Given the description of an element on the screen output the (x, y) to click on. 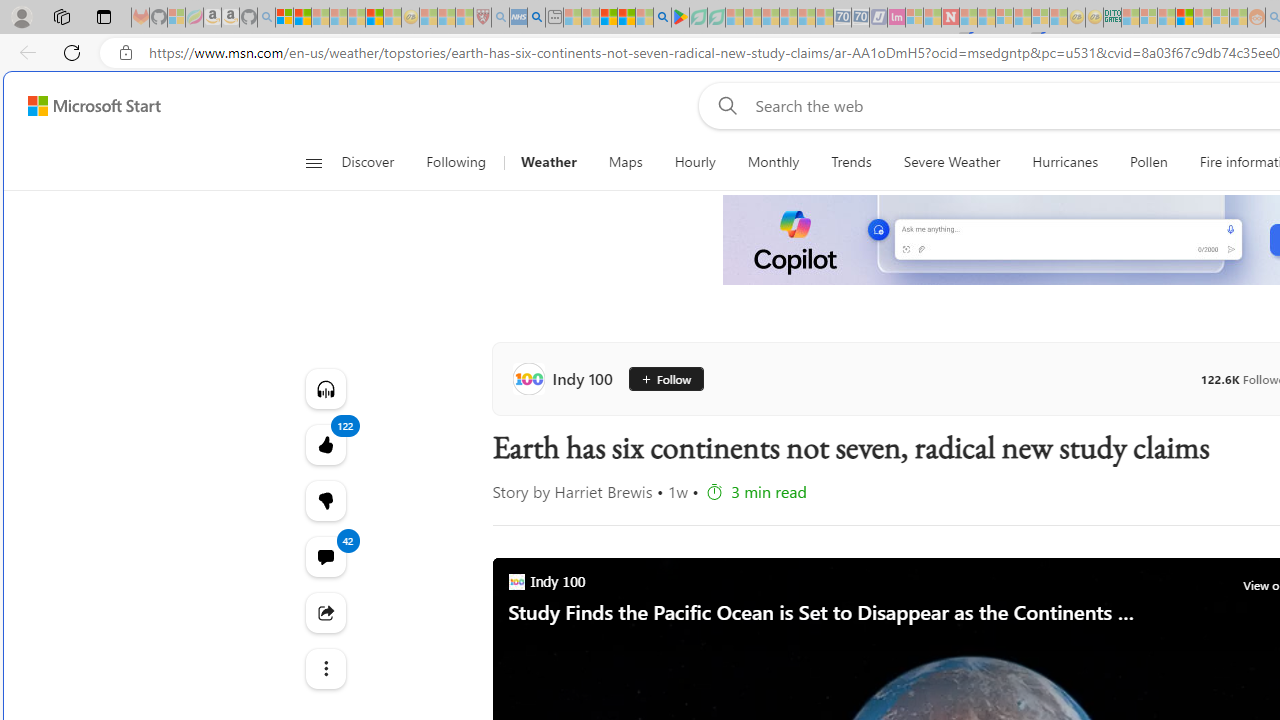
Hurricanes (1065, 162)
utah sues federal government - Search (536, 17)
Recipes - MSN - Sleeping (427, 17)
google - Search (662, 17)
Listen to this article (324, 388)
Severe Weather (952, 162)
Pets - MSN (626, 17)
Pollen (1148, 162)
Pollen (1148, 162)
